Given the description of an element on the screen output the (x, y) to click on. 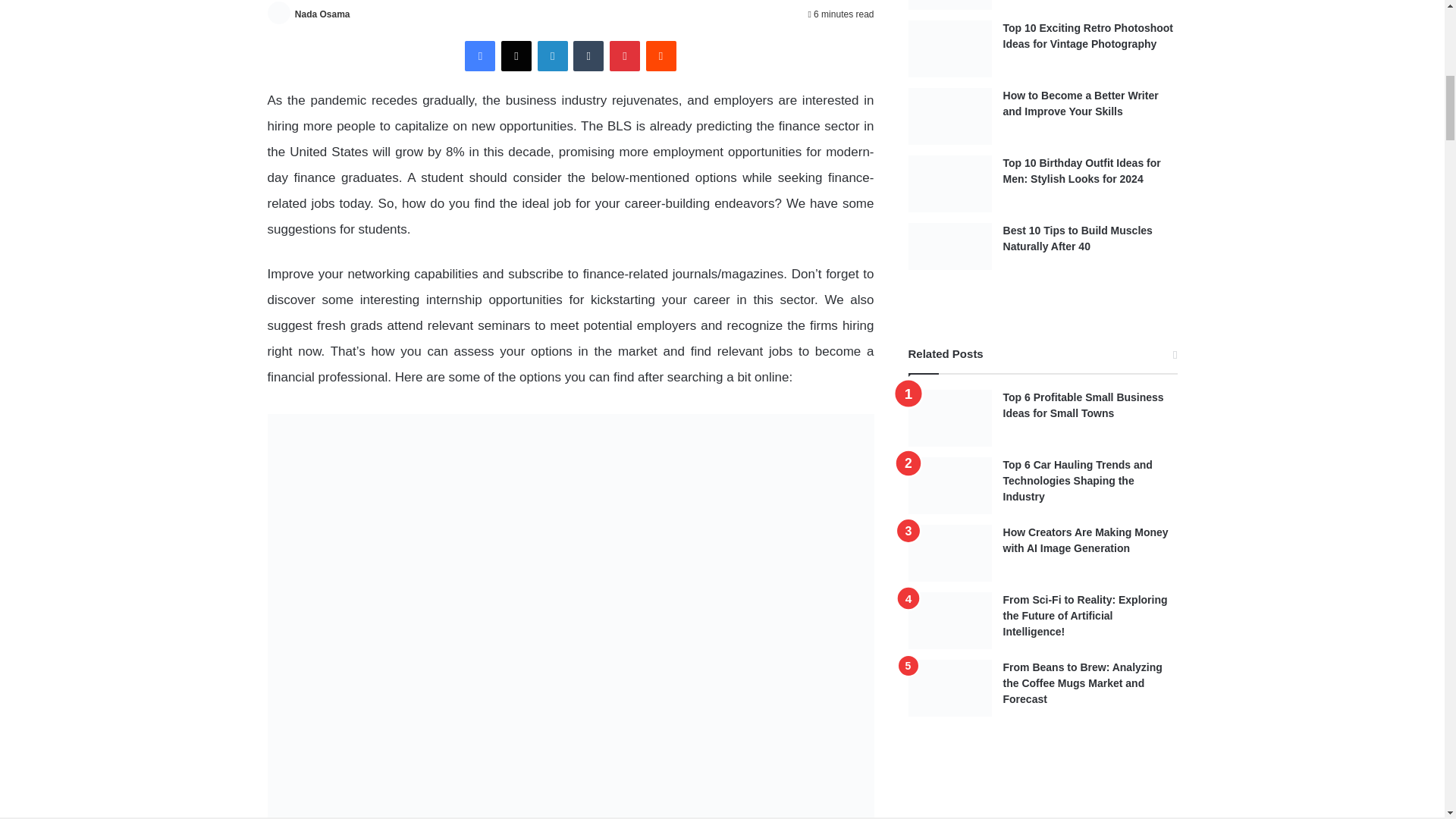
Facebook (479, 55)
Reddit (661, 55)
Pinterest (625, 55)
LinkedIn (552, 55)
X (515, 55)
Nada Osama (322, 14)
Tumblr (588, 55)
